Given the description of an element on the screen output the (x, y) to click on. 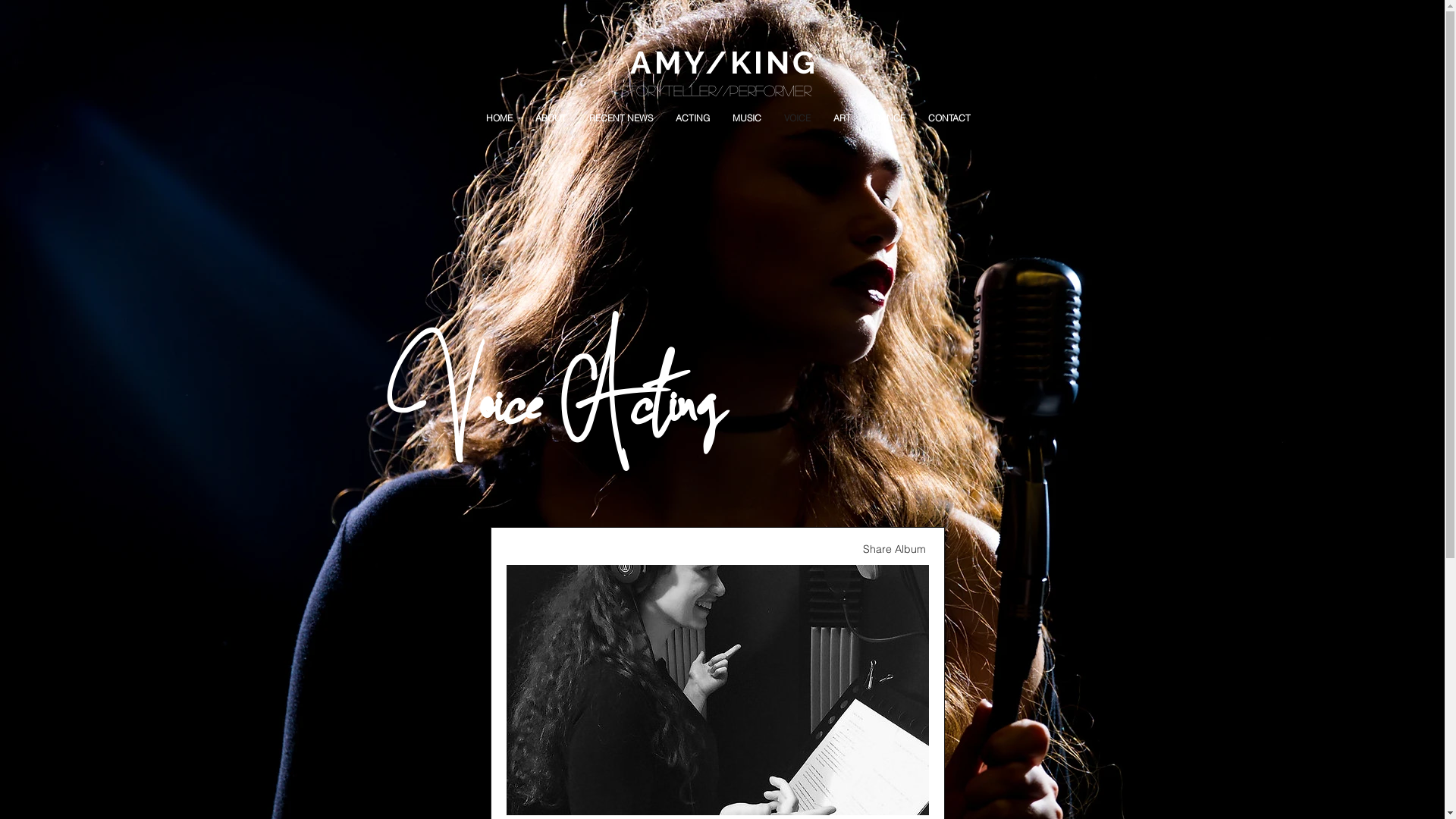
ART Element type: text (842, 118)
CONTACT Element type: text (948, 118)
MUSIC Element type: text (745, 118)
DANCE Element type: text (888, 118)
HOME Element type: text (499, 118)
ABOUT Element type: text (550, 118)
ACTING Element type: text (692, 118)
VOICE Element type: text (796, 118)
RECENT NEWS Element type: text (620, 118)
